Given the description of an element on the screen output the (x, y) to click on. 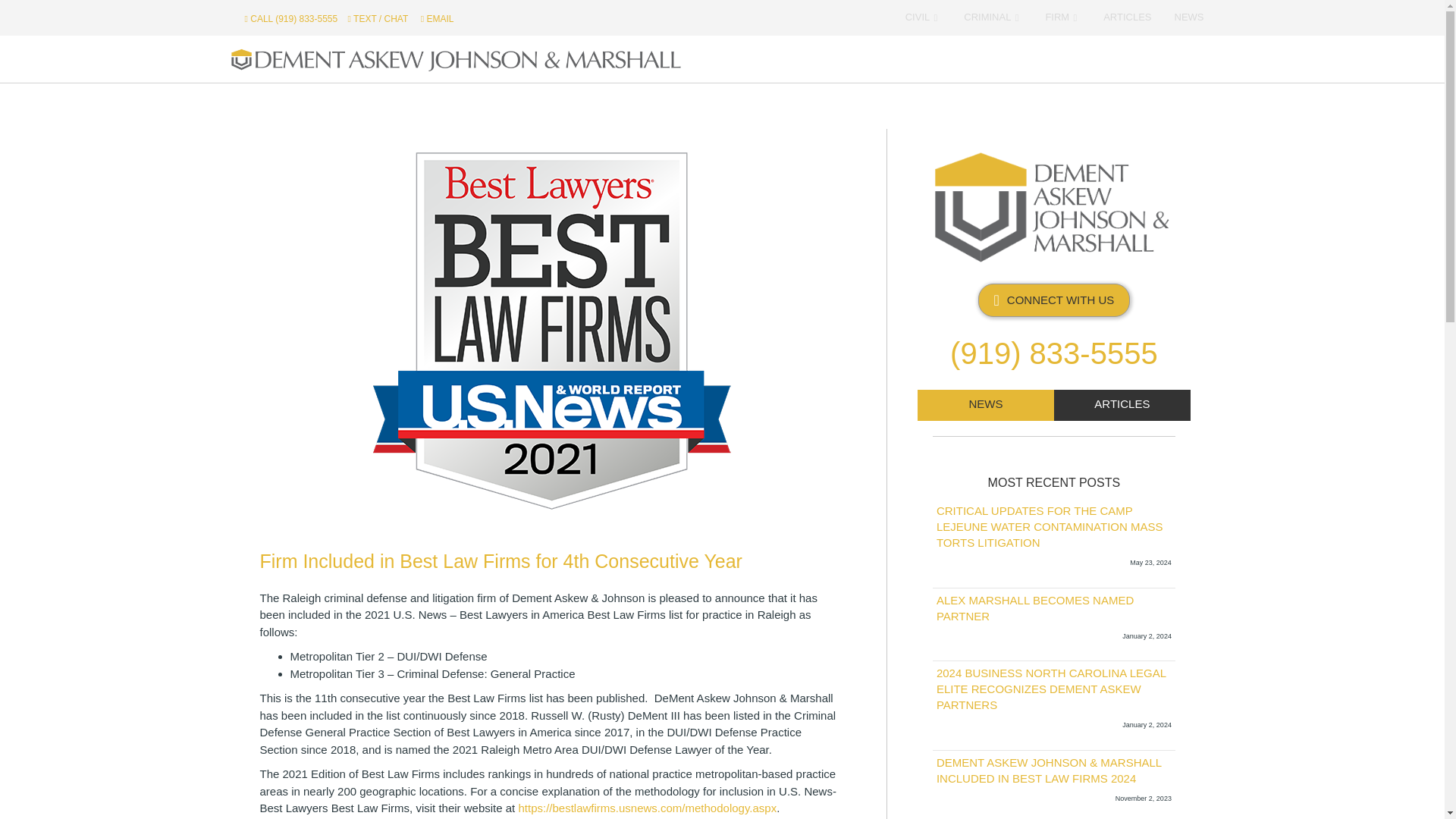
Alex Marshall Becomes Named Partner (1035, 607)
